Given the description of an element on the screen output the (x, y) to click on. 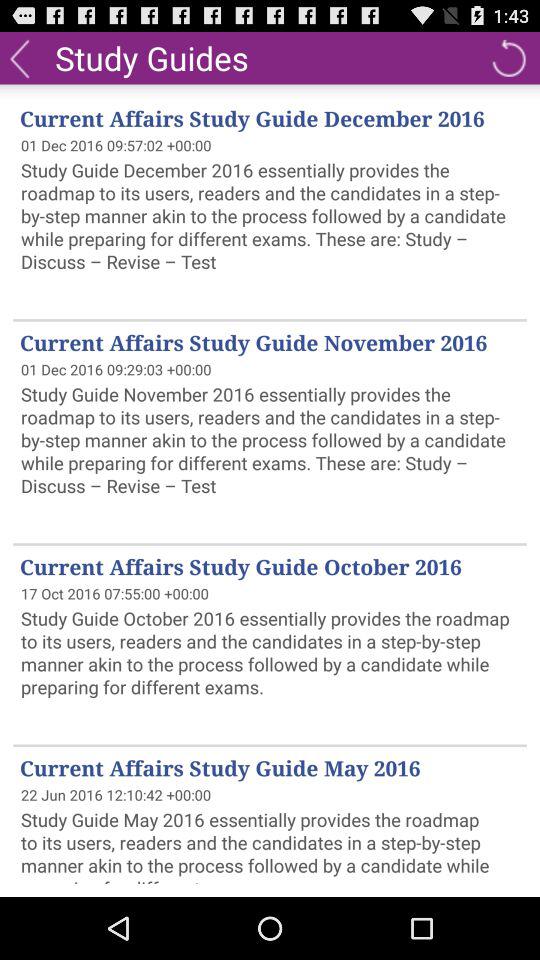
launch the icon to the left of study guides icon (19, 57)
